Given the description of an element on the screen output the (x, y) to click on. 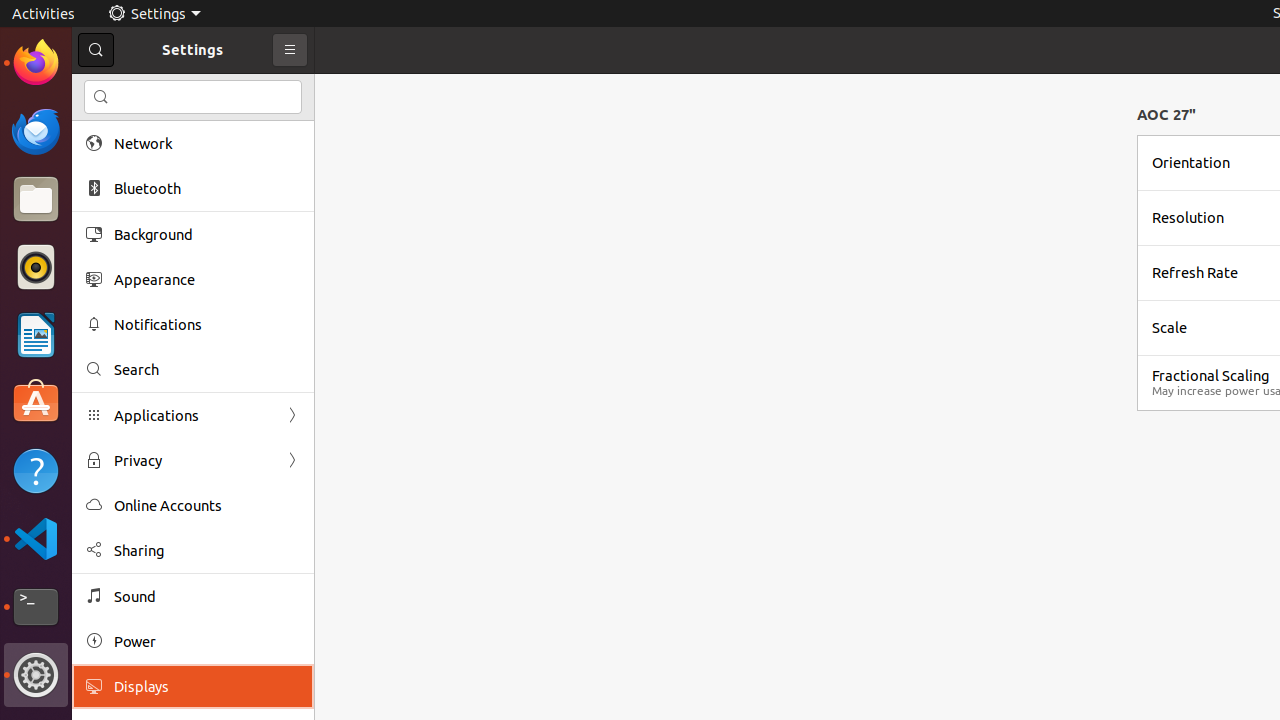
Applications Element type: label (193, 415)
Search Element type: text (193, 97)
Appearance Element type: label (207, 279)
Activities Element type: label (43, 13)
